Given the description of an element on the screen output the (x, y) to click on. 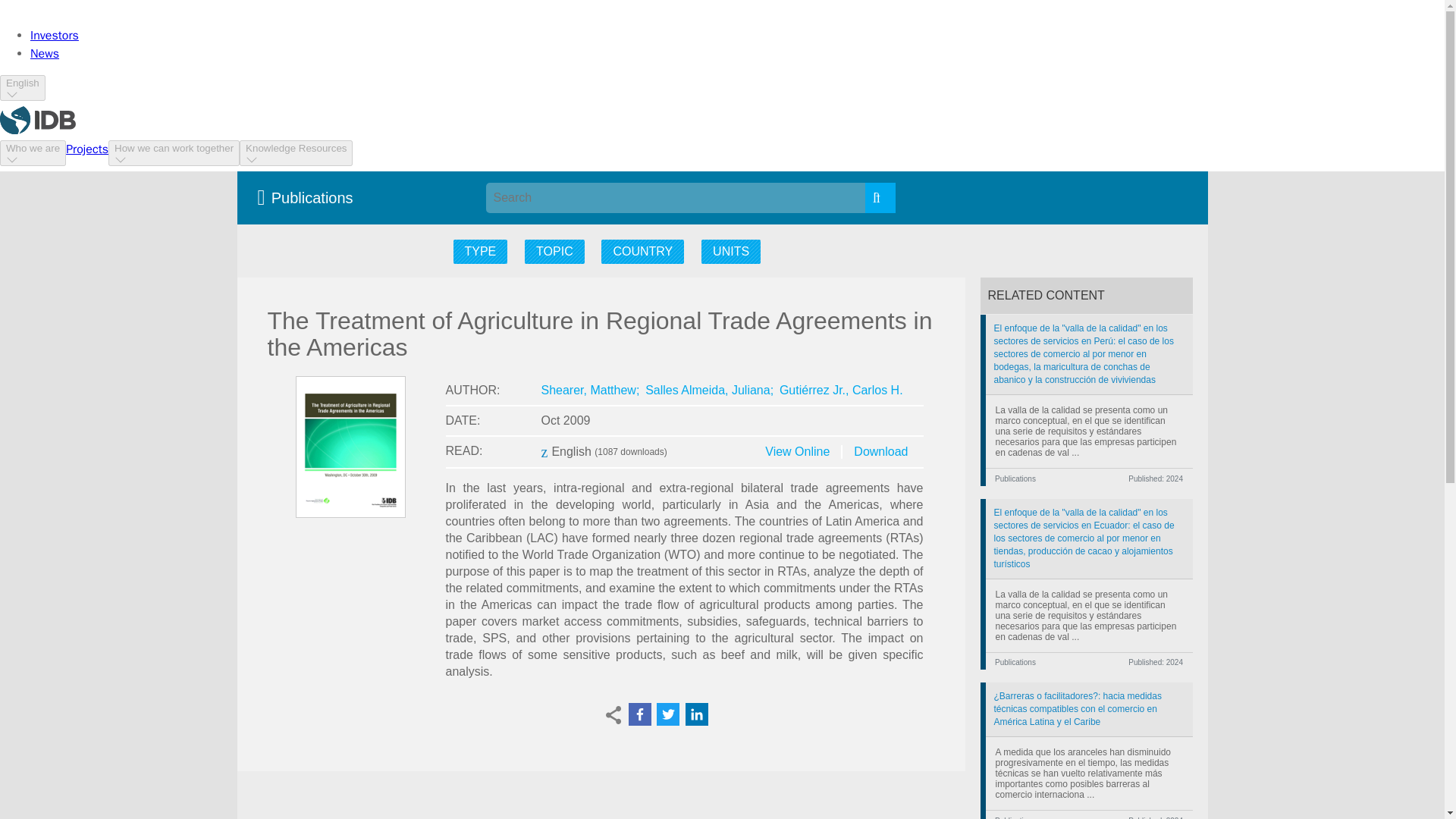
El enfoque de la  (1088, 538)
Apply (879, 197)
El enfoque de la  (1088, 354)
Share on Facebook (638, 713)
Share on LinkedIn (696, 713)
Apply (879, 197)
Publications (308, 197)
Share on Twitter (667, 713)
